Given the description of an element on the screen output the (x, y) to click on. 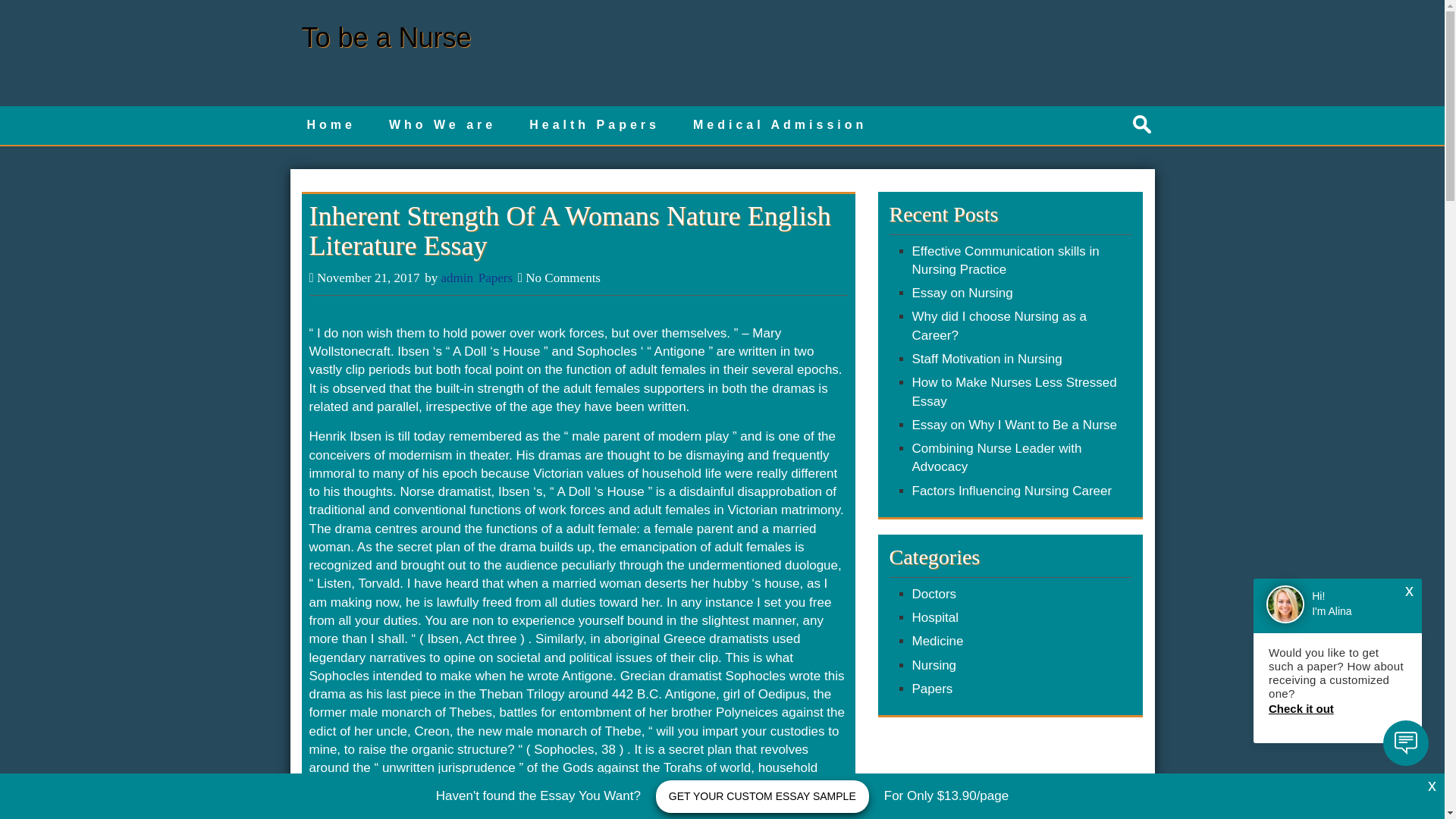
Check it out (1337, 708)
Medical Admission (780, 125)
How to Make Nurses Less Stressed Essay (1013, 391)
Staff Motivation in Nursing (986, 359)
Essay on Why I Want to Be a Nurse (1013, 424)
Combining Nurse Leader with Advocacy (996, 457)
Factors Influencing Nursing Career (1011, 490)
Home (330, 125)
Essay on Nursing (961, 292)
